Given the description of an element on the screen output the (x, y) to click on. 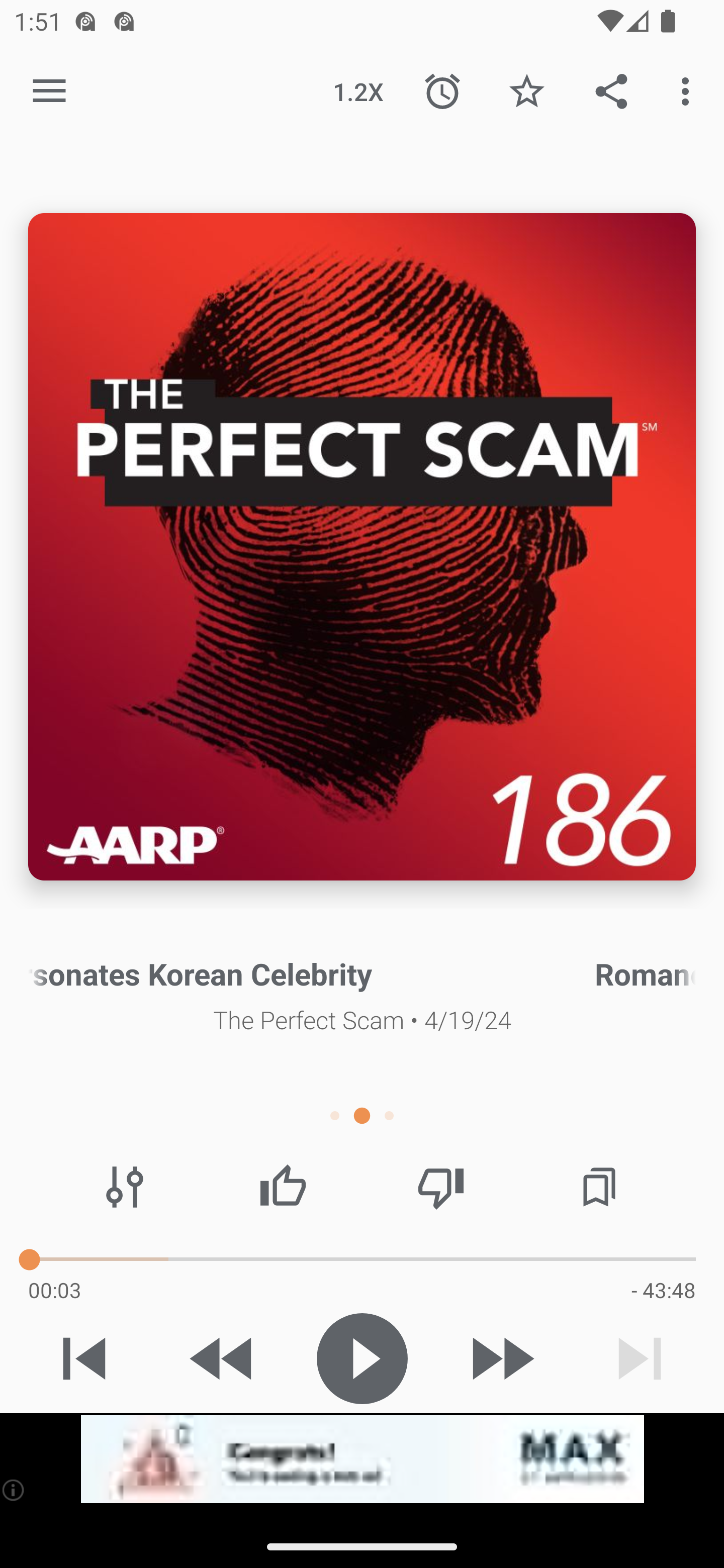
Open navigation sidebar (49, 91)
1.2X (357, 90)
Sleep Timer (442, 90)
Favorite (526, 90)
Share (611, 90)
More options (688, 90)
Episode description (361, 547)
Audio effects (124, 1186)
Thumbs up (283, 1186)
Thumbs down (440, 1186)
Chapters / Bookmarks (598, 1186)
- 43:48 (663, 1289)
Previous track (84, 1358)
Skip 15s backward (222, 1358)
Play / Pause (362, 1358)
Skip 30s forward (500, 1358)
Next track (639, 1358)
app-monetization (362, 1459)
(i) (14, 1489)
